Given the description of an element on the screen output the (x, y) to click on. 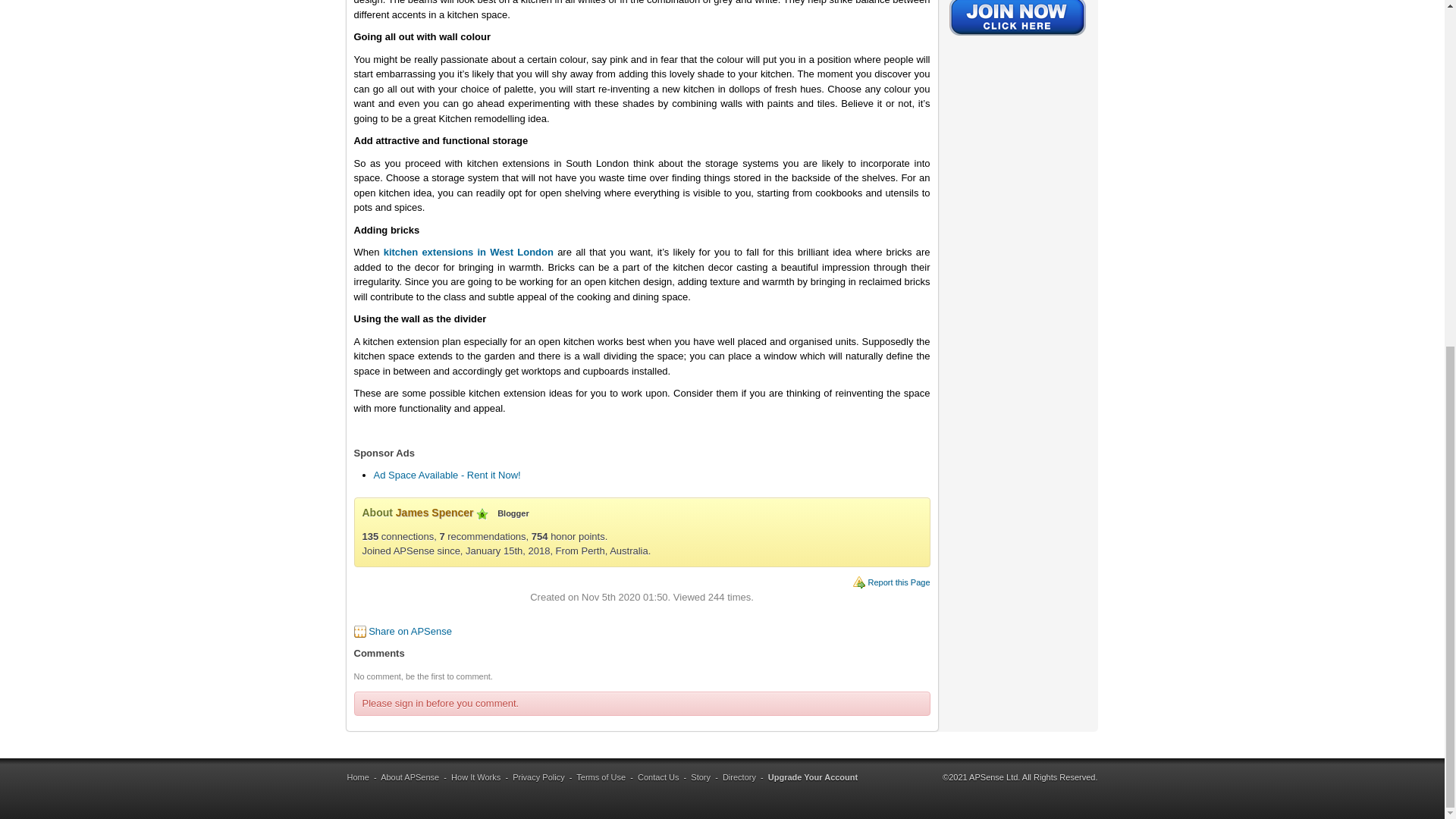
Report this Page (898, 582)
Join APSense Social Network (1017, 36)
Senior (481, 513)
Ad Space Available - Rent it Now! (445, 474)
kitchen extensions in West London (468, 251)
Share on APSense (409, 631)
James Spencer (435, 512)
Share on APSense (409, 631)
